Given the description of an element on the screen output the (x, y) to click on. 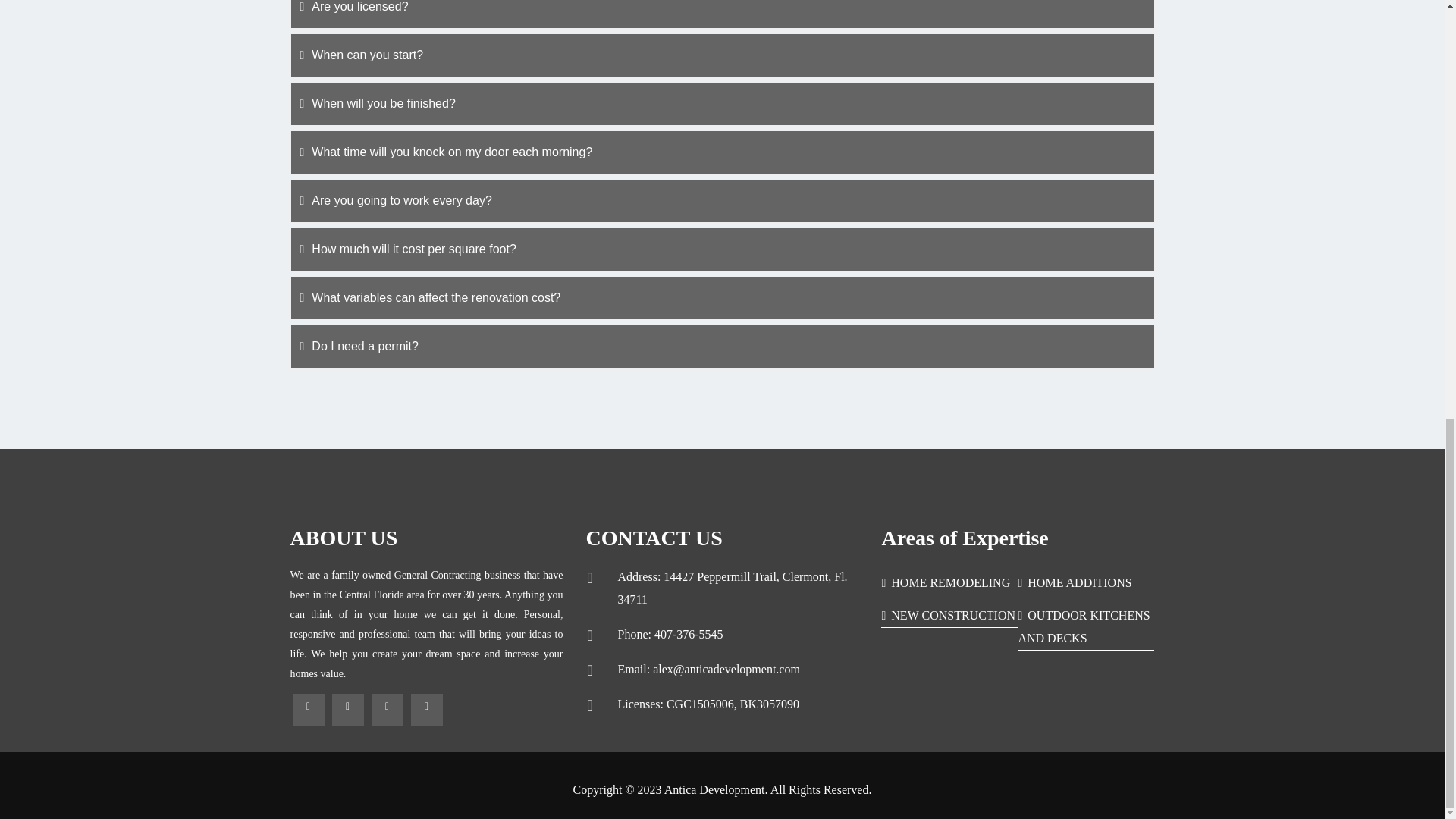
NEW CONSTRUCTION (947, 615)
What time will you knock on my door each morning? (721, 152)
OUTDOOR KITCHENS AND DECKS (1083, 626)
Are you going to work every day? (721, 200)
What variables can affect the renovation cost? (721, 297)
HOME REMODELING (945, 582)
When will you be finished? (721, 103)
How much will it cost per square foot? (721, 249)
HOME ADDITIONS (1074, 582)
When can you start? (721, 55)
